Given the description of an element on the screen output the (x, y) to click on. 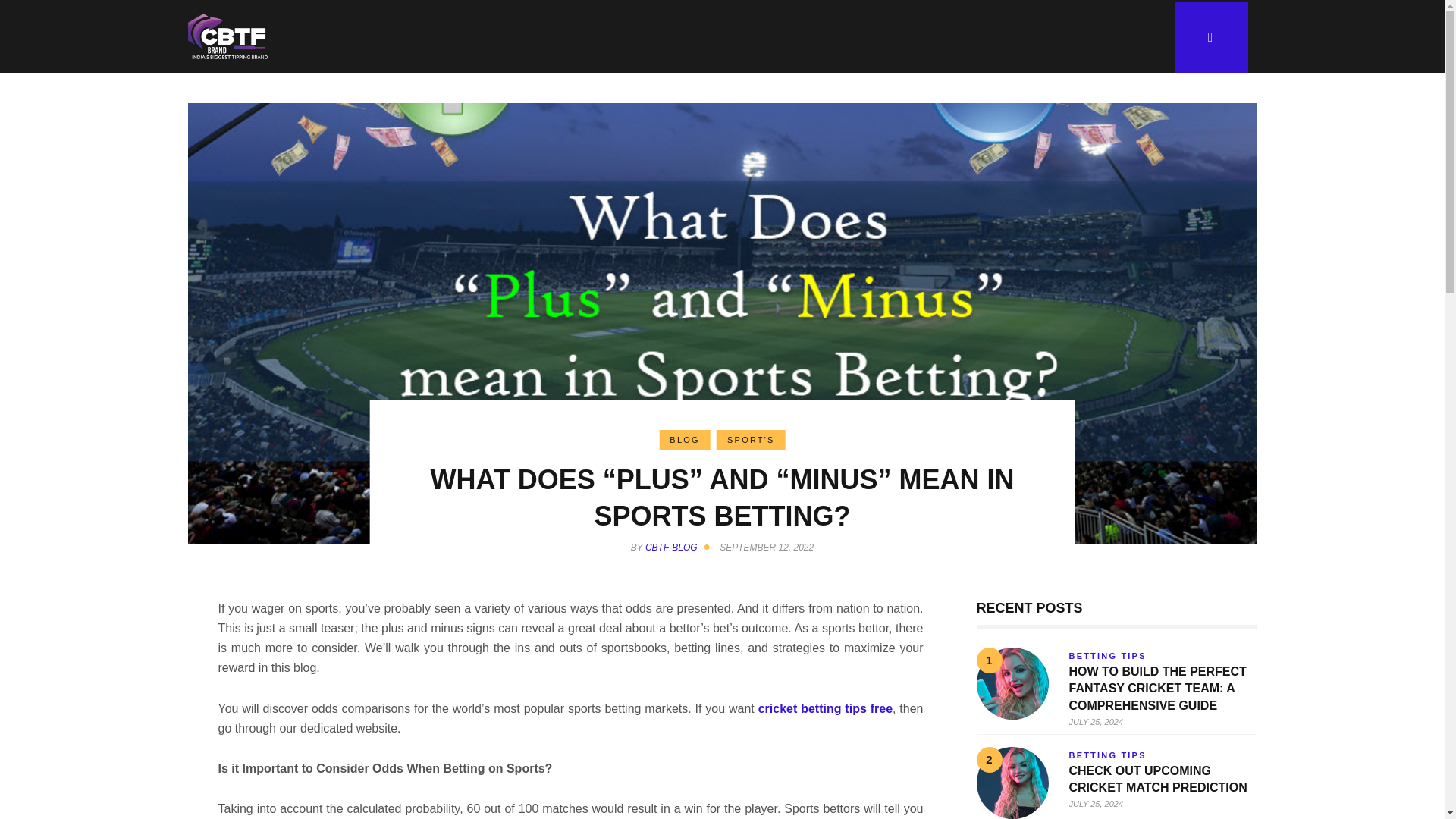
View all posts in Betting Tips (1107, 655)
BLOG (684, 439)
BY CBTF-BLOG (673, 547)
SPORT'S (751, 439)
View all posts in Betting Tips (1107, 755)
cricket betting tips free (825, 707)
